Given the description of an element on the screen output the (x, y) to click on. 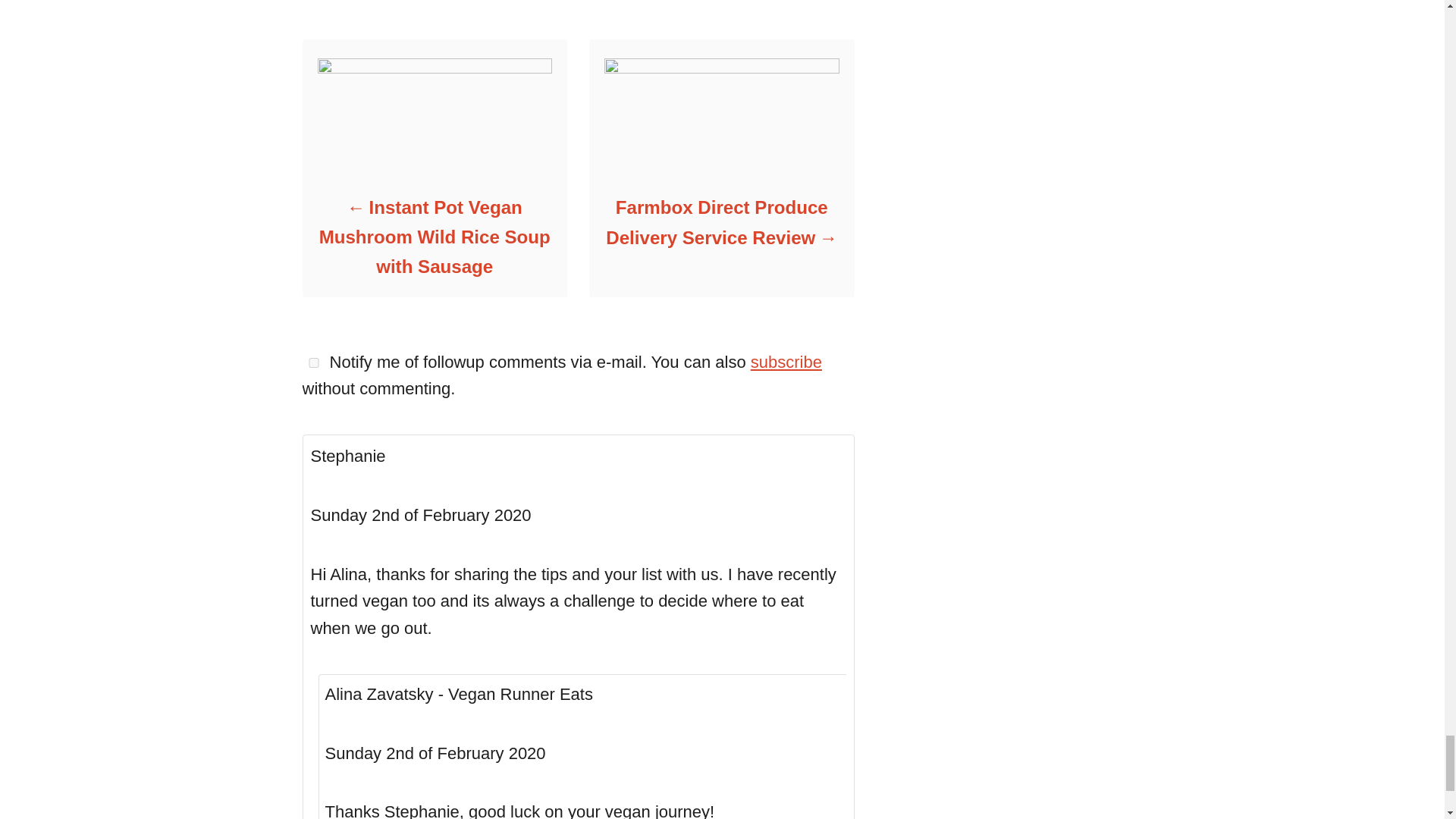
yes (312, 362)
